Given the description of an element on the screen output the (x, y) to click on. 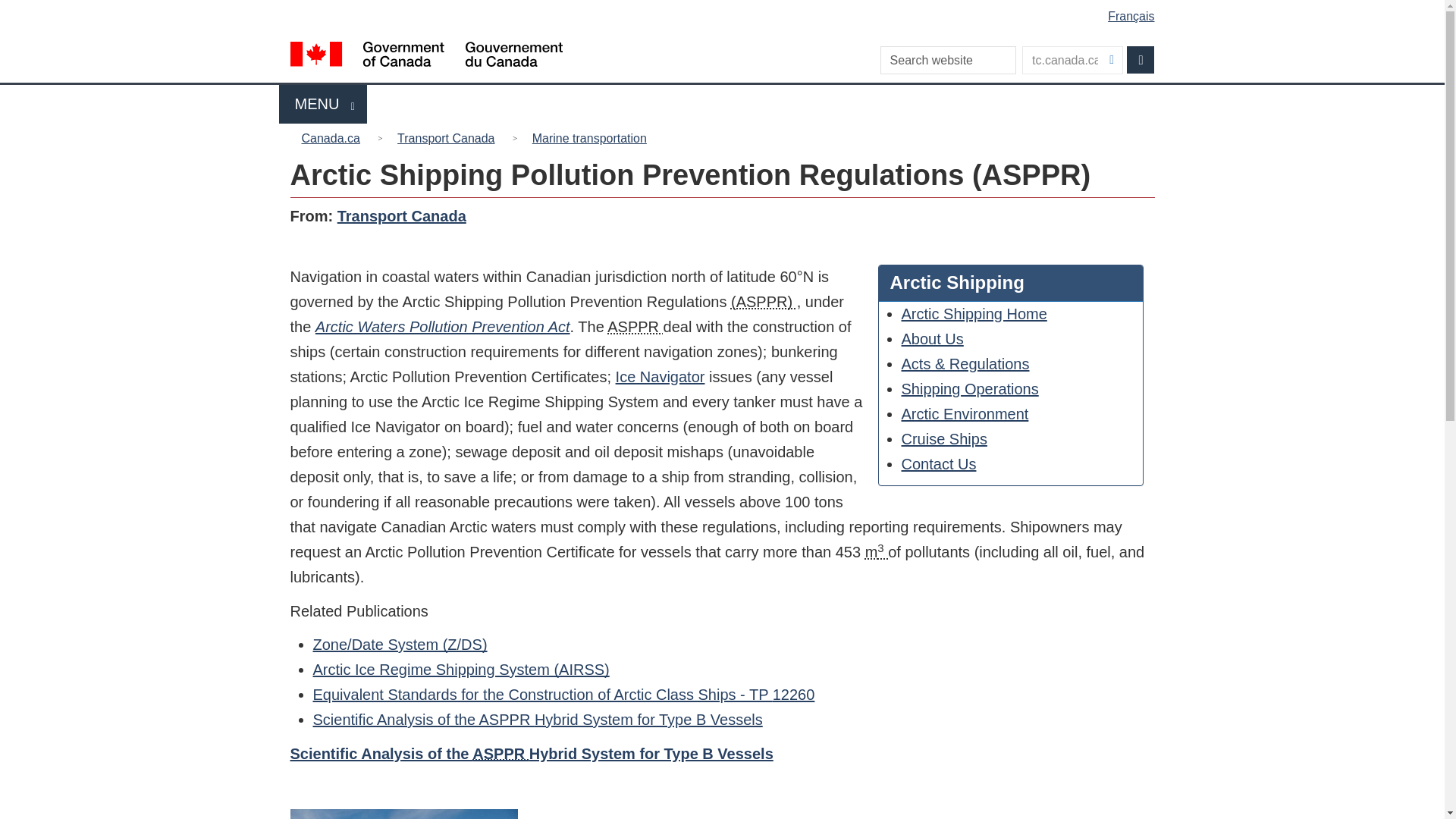
About Us (932, 338)
Contact Marine Safety (938, 463)
Arctic Environment (322, 104)
Arctic Shipping Pollution Prevention Regulations (965, 413)
Arctic Shipping Pollution Prevention Regulations (634, 326)
Search (763, 301)
cubic metres (1140, 59)
Search (876, 551)
Cruise Ships (1140, 59)
Arctic Shipping (944, 438)
Shipping Operations (973, 313)
Ice Navigators (970, 388)
Skip to main content (659, 376)
Enter the terms you wish to search for. (725, 11)
